Given the description of an element on the screen output the (x, y) to click on. 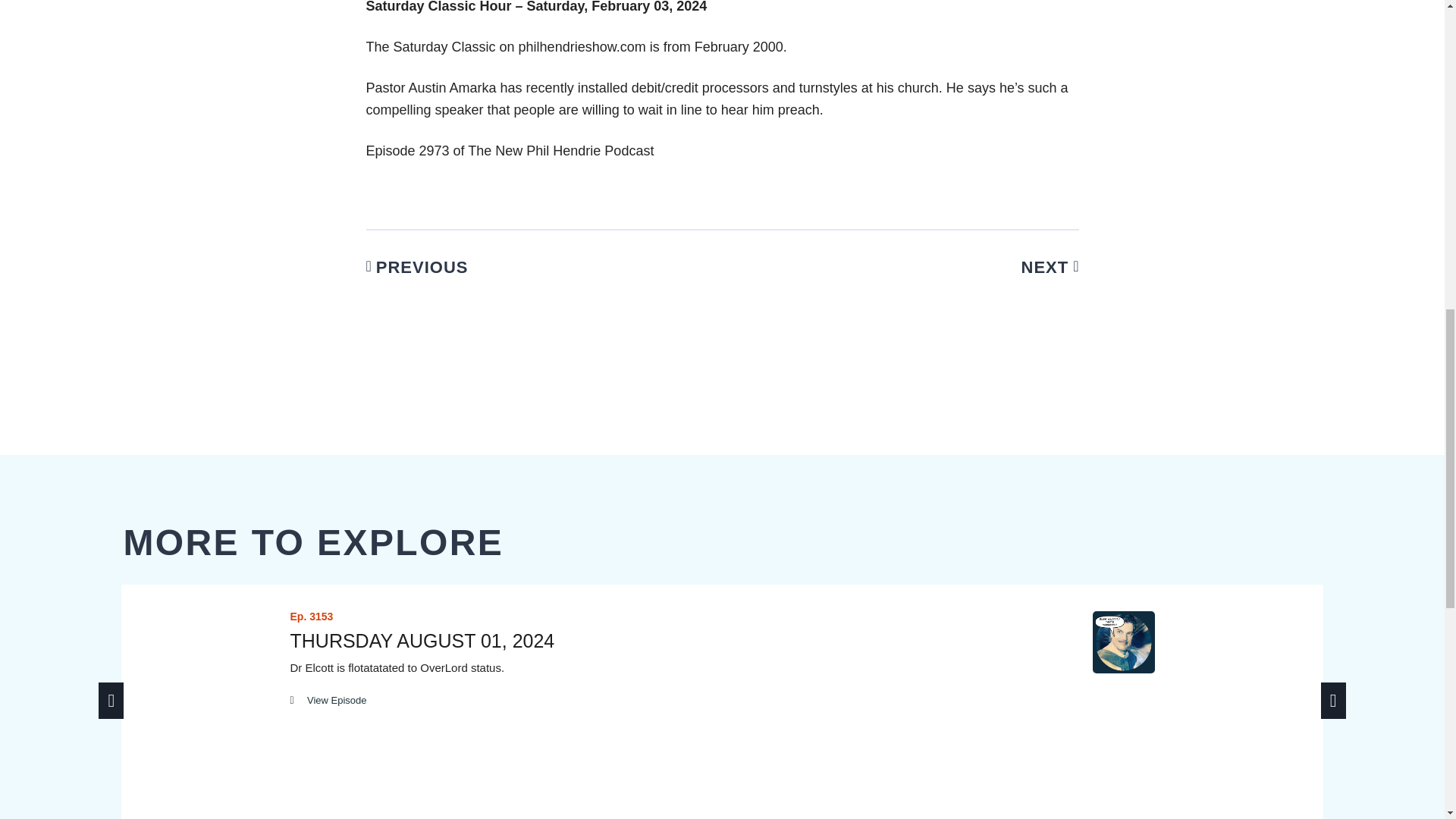
NEXT (919, 267)
PREVIOUS (524, 267)
THURSDAY AUGUST 01, 2024 (421, 640)
View Episode (327, 700)
